Given the description of an element on the screen output the (x, y) to click on. 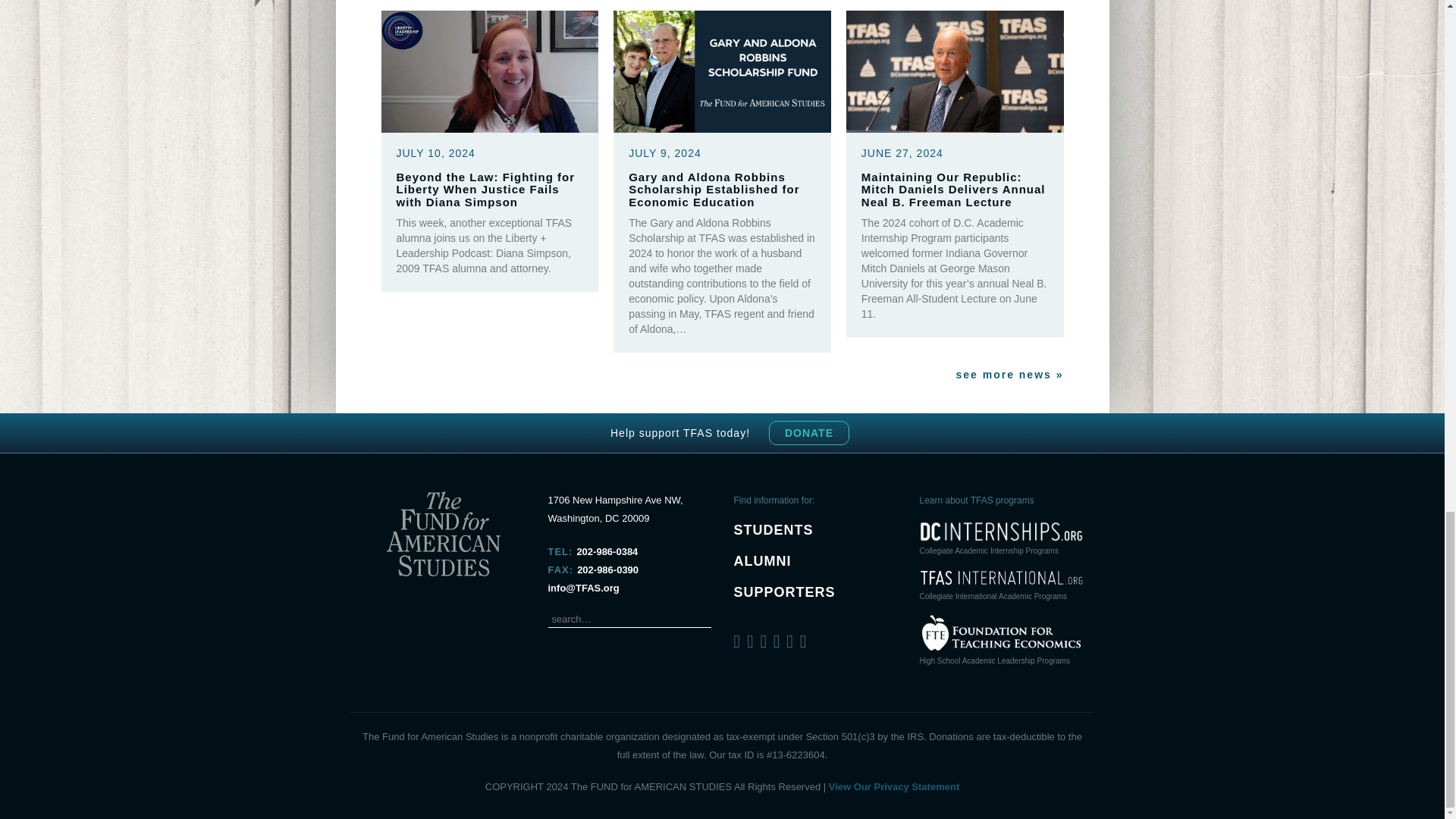
Donate (808, 432)
Donate (808, 432)
